Given the description of an element on the screen output the (x, y) to click on. 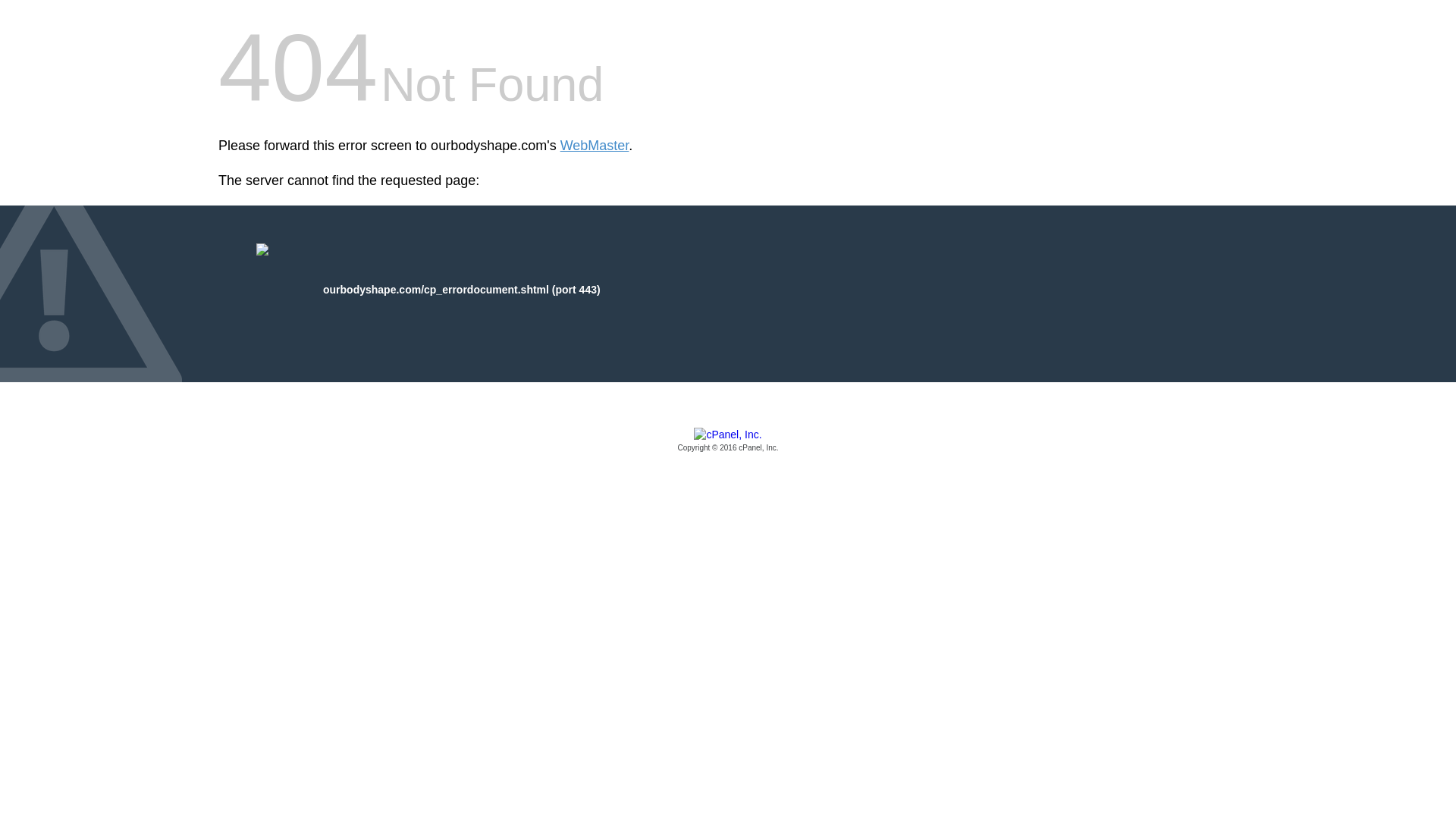
cPanel, Inc. (727, 440)
WebMaster (594, 145)
